Given the description of an element on the screen output the (x, y) to click on. 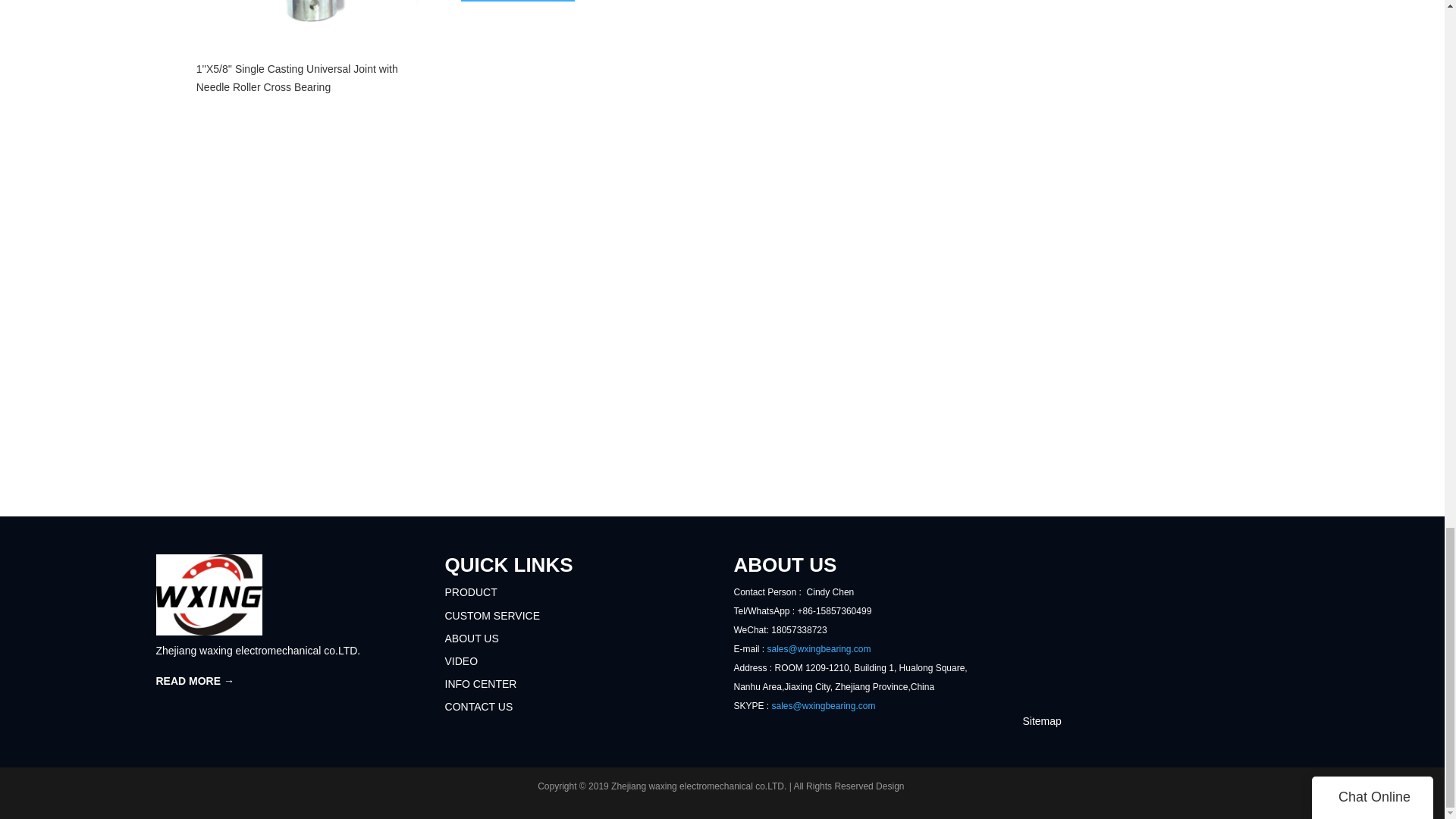
Send Inquiry Now (518, 1)
